Given the description of an element on the screen output the (x, y) to click on. 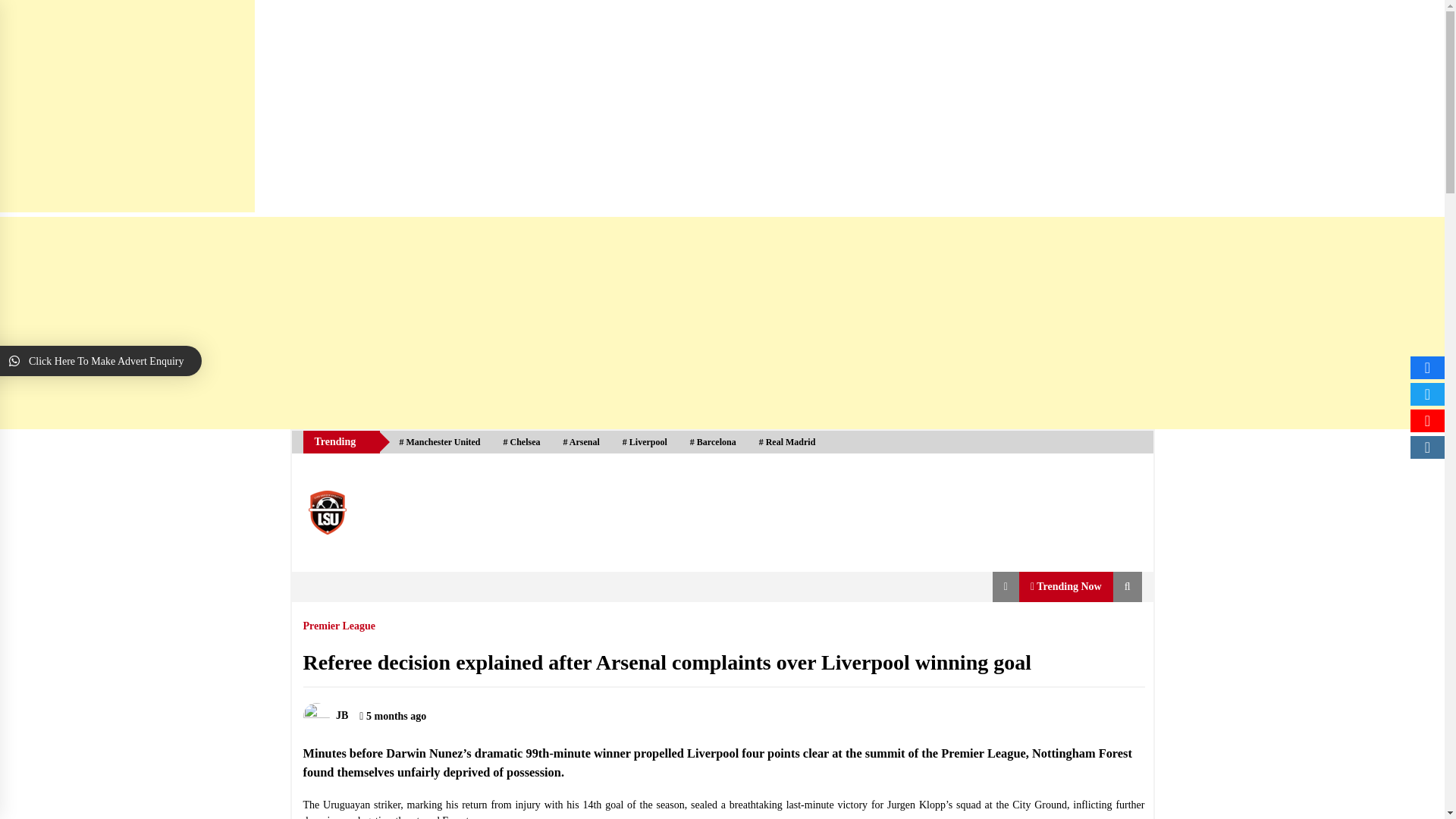
Liverpool (644, 441)
Premier League (338, 622)
Advertisement (127, 106)
Barcelona (713, 441)
Real Madrid (787, 441)
JB (325, 715)
Chelsea (521, 441)
Arsenal (581, 441)
Manchester United (439, 441)
